Given the description of an element on the screen output the (x, y) to click on. 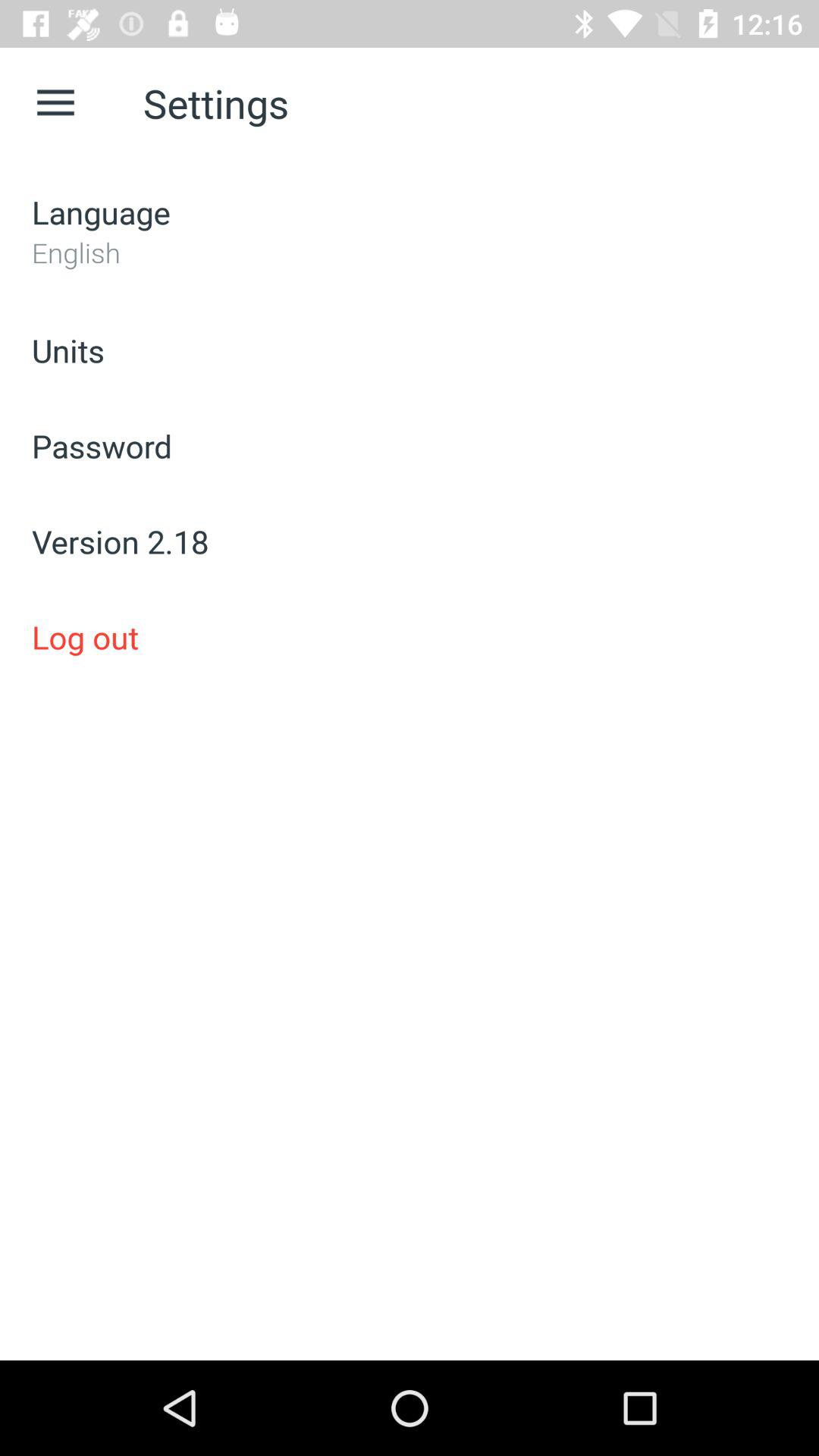
choose icon above language icon (55, 103)
